Given the description of an element on the screen output the (x, y) to click on. 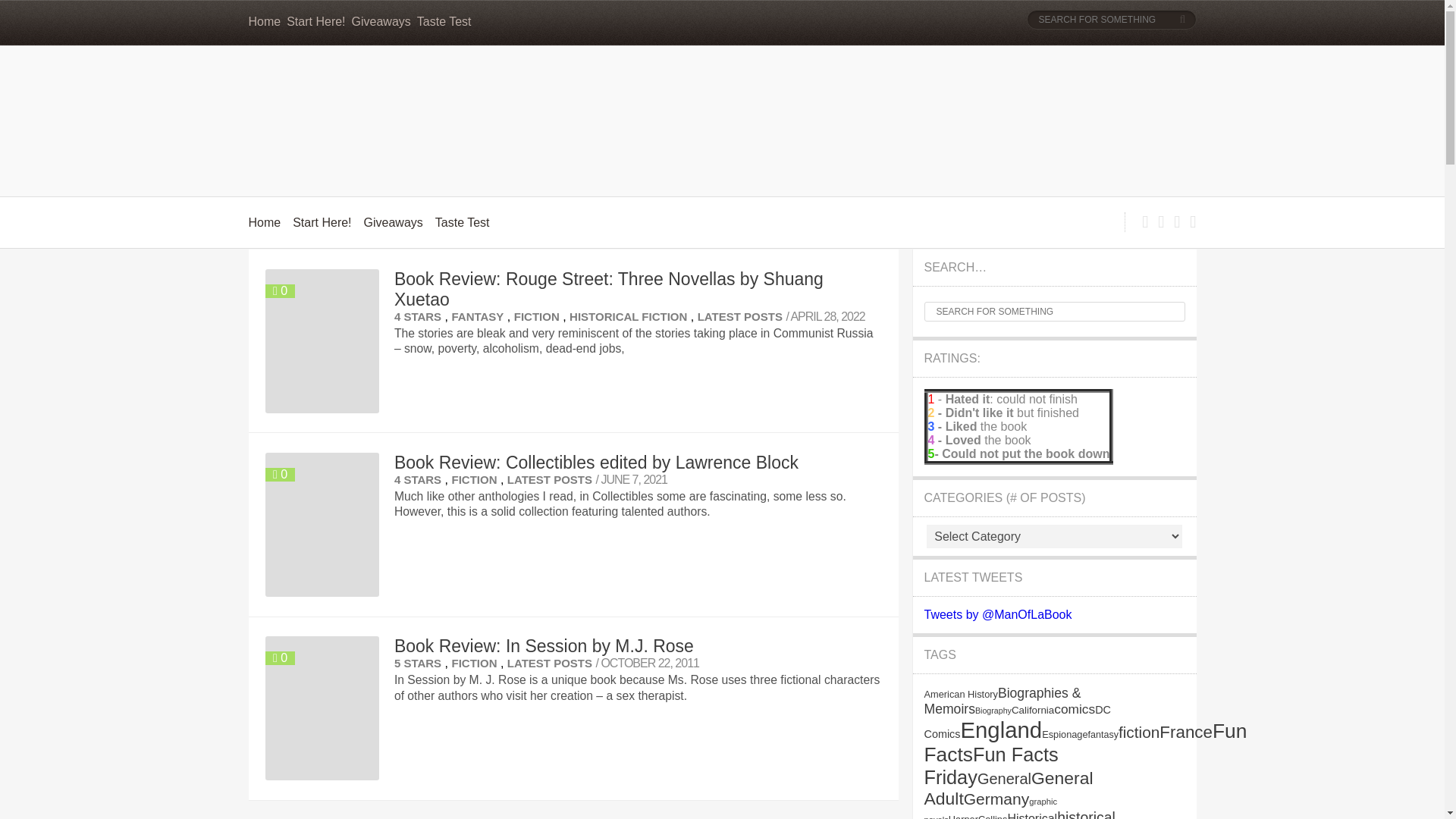
Book Review: Collectibles edited by Lawrence Block (595, 462)
Taste Test (462, 222)
Book Review: Rouge Street: Three Novellas by Shuang Xuetao (609, 289)
FICTION (536, 316)
FICTION (473, 479)
Facebook (74, 780)
comics (1074, 708)
Taste Test (443, 21)
5 STARS (417, 662)
LATEST POSTS (549, 662)
Book Review: In Session by M.J. Rose (544, 646)
Start Here! (321, 222)
LATEST POSTS (740, 316)
Giveaways (393, 222)
4 STARS (417, 479)
